Given the description of an element on the screen output the (x, y) to click on. 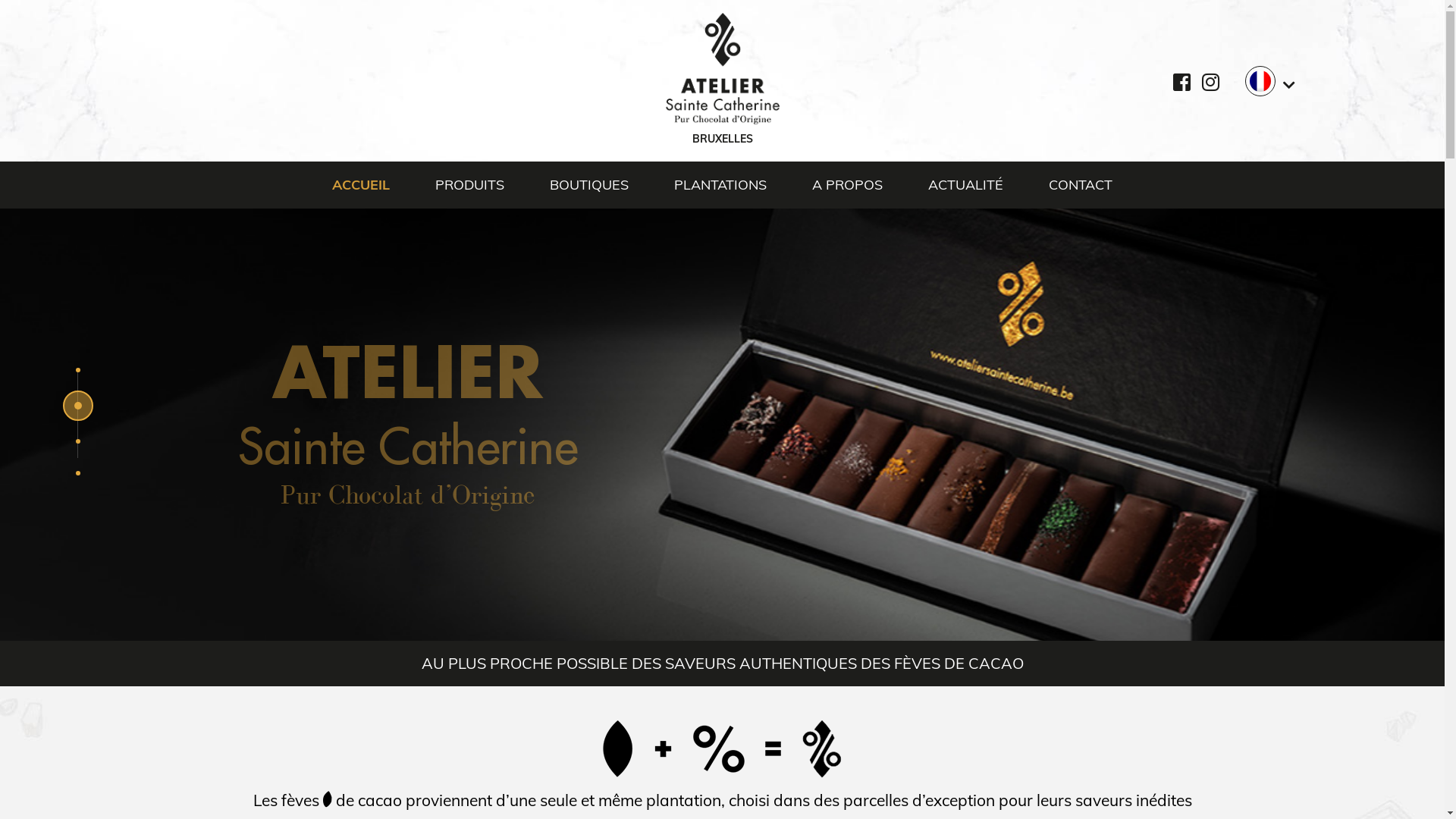
BRUXELLES Element type: text (722, 79)
PRODUITS Element type: text (469, 184)
CONTACT Element type: text (1069, 184)
ACCUEIL Element type: text (372, 184)
PLANTATIONS Element type: text (720, 184)
BOUTIQUES Element type: text (589, 184)
A PROPOS Element type: text (847, 184)
